Given the description of an element on the screen output the (x, y) to click on. 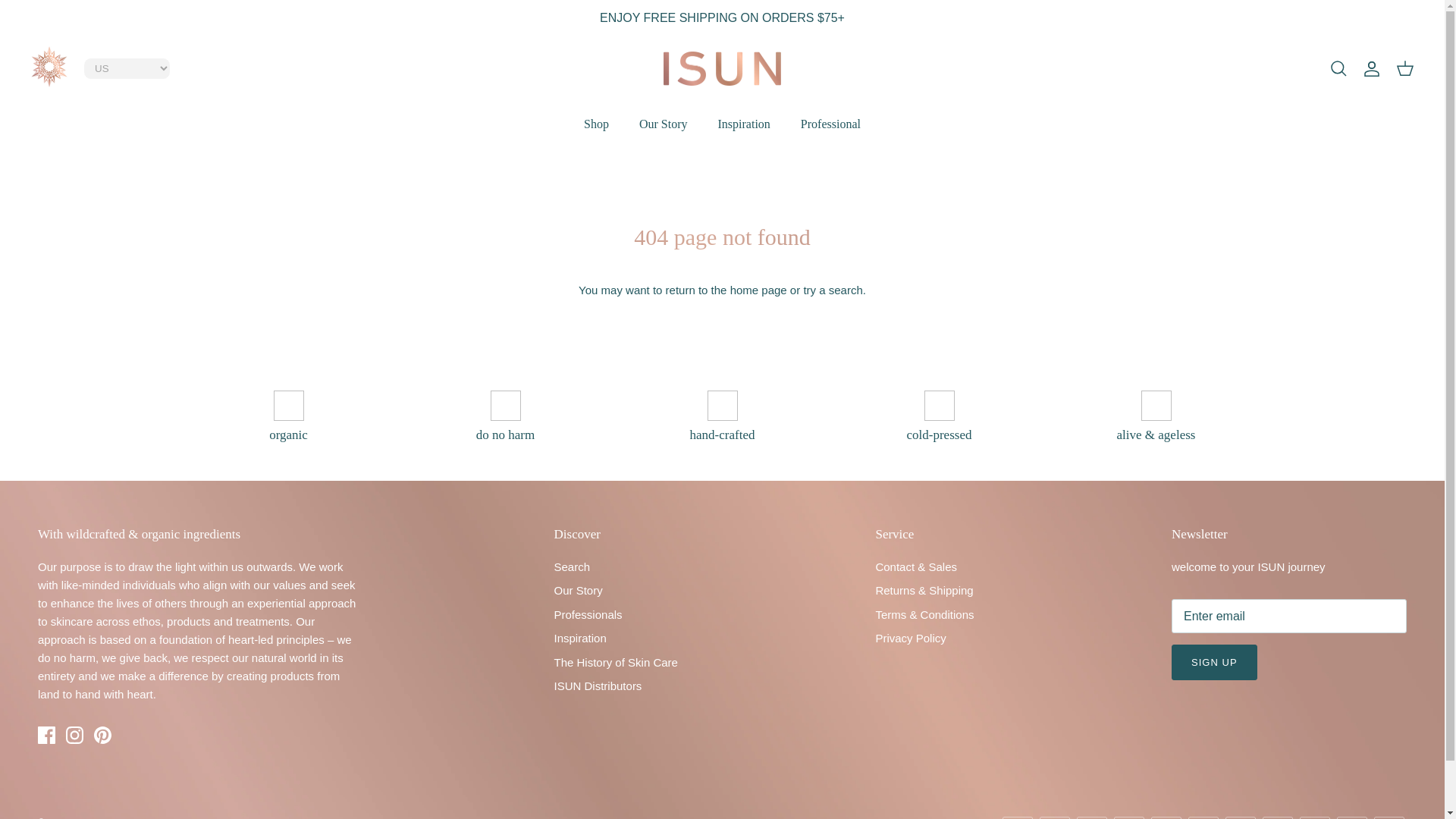
Search (1338, 68)
Facebook (46, 734)
ISUN Skincare (721, 68)
Cart (1404, 68)
Instagram (73, 734)
Account (1371, 68)
Pinterest (103, 734)
Shop (596, 124)
